Given the description of an element on the screen output the (x, y) to click on. 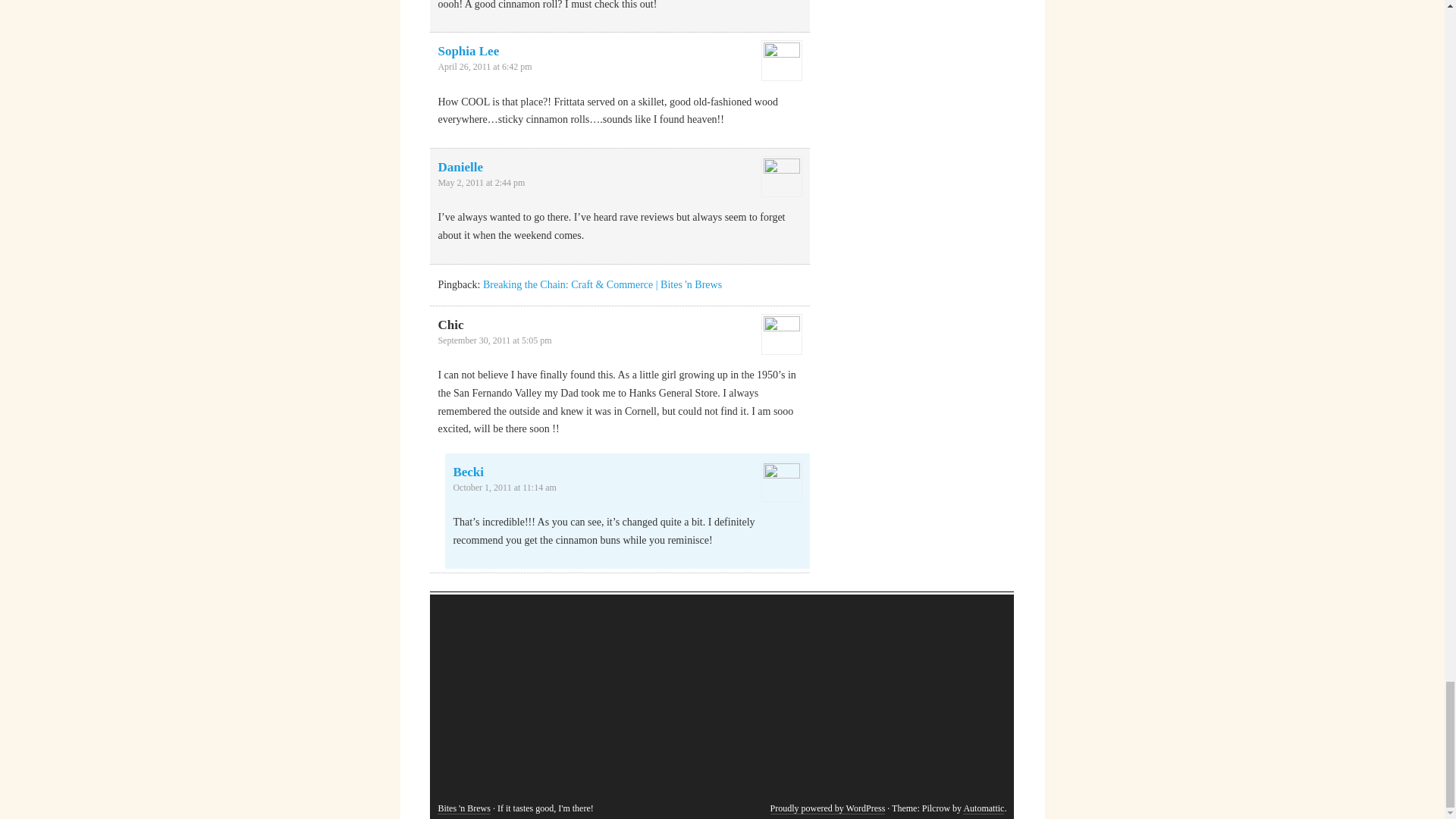
Bites 'n Brews (464, 808)
A Semantic Personal Publishing Platform (827, 808)
